Given the description of an element on the screen output the (x, y) to click on. 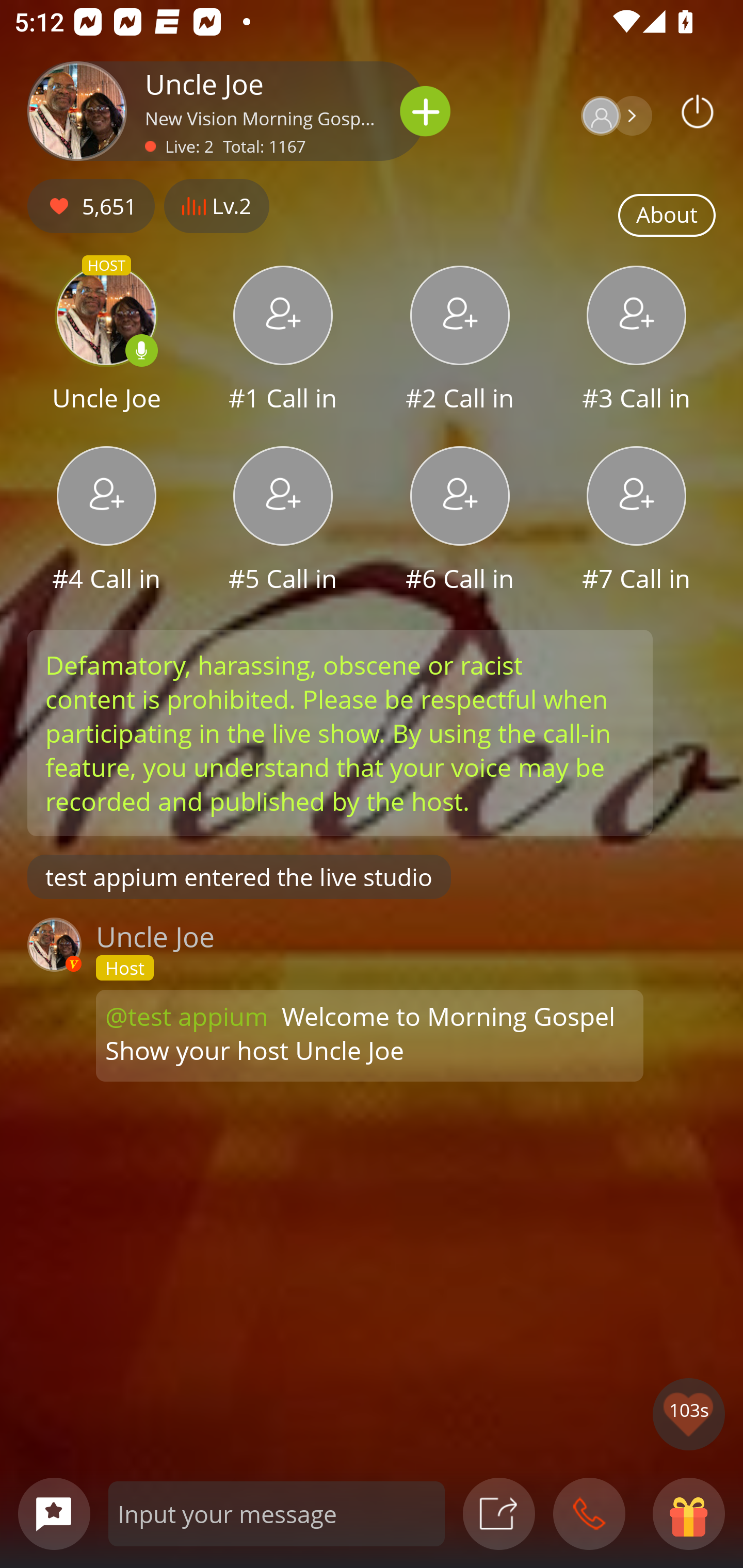
Podbean (697, 111)
About (666, 215)
HOST Uncle Joe (105, 340)
#1 Call in (282, 340)
#2 Call in (459, 340)
#3 Call in (636, 340)
#4 Call in (105, 521)
#5 Call in (282, 521)
#6 Call in (459, 521)
#7 Call in (636, 521)
Input your message (276, 1513)
